Given the description of an element on the screen output the (x, y) to click on. 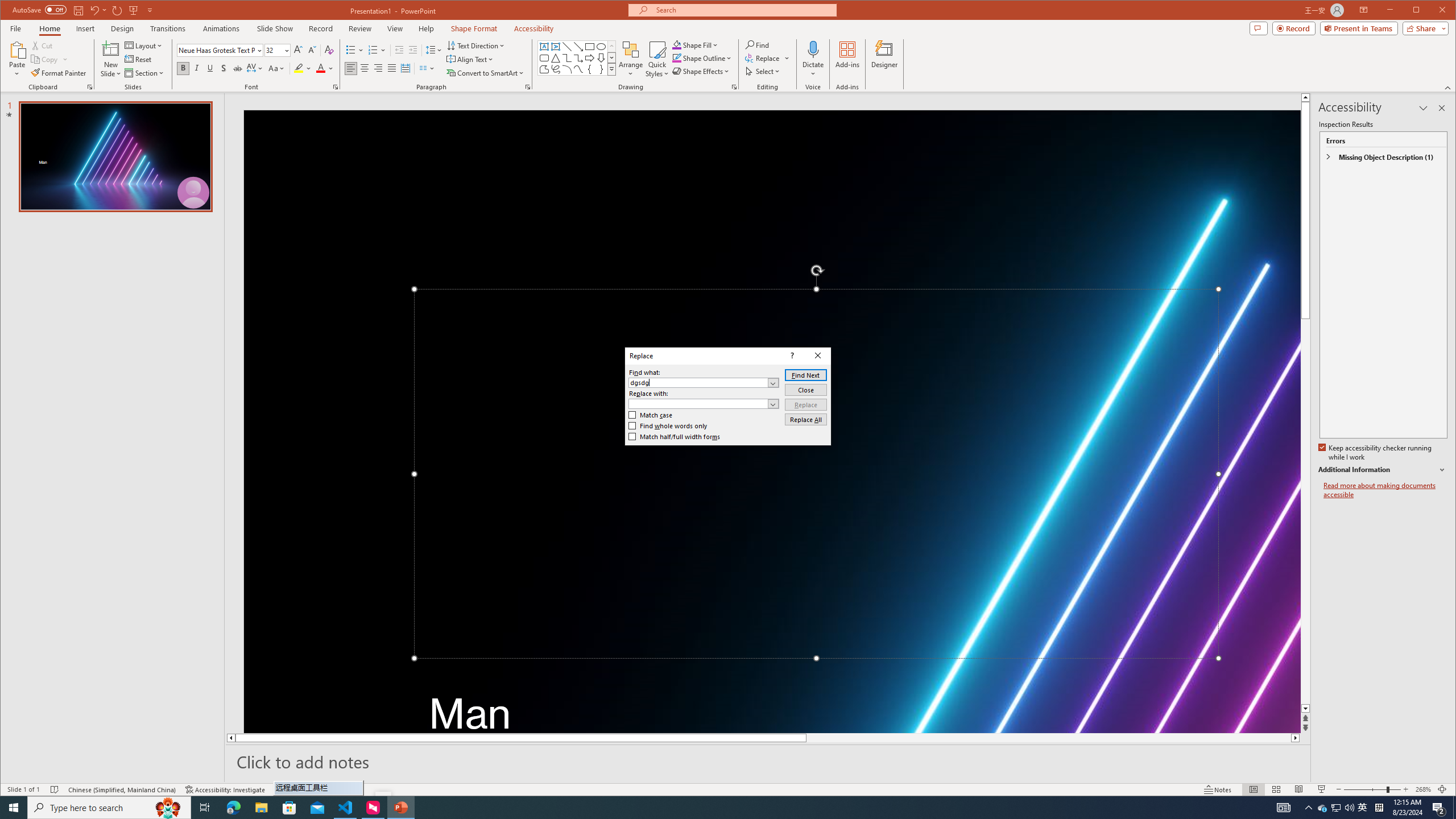
Keep accessibility checker running while I work (1375, 452)
Read more about making documents accessible (1385, 489)
